Given the description of an element on the screen output the (x, y) to click on. 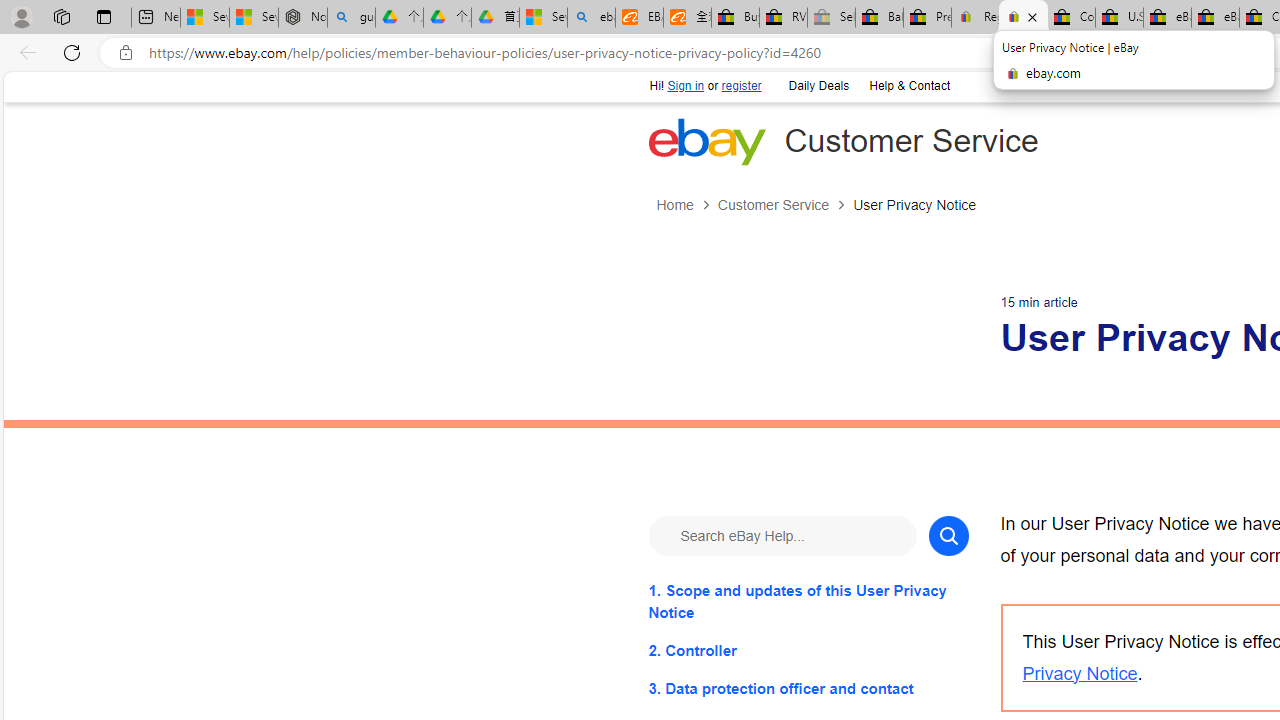
1. Scope and updates of this User Privacy Notice (807, 601)
1. Scope and updates of this User Privacy Notice (807, 601)
eBay Inc. Reports Third Quarter 2023 Results (1215, 17)
User Privacy Notice | eBay (1023, 17)
register (740, 85)
Daily Deals (818, 86)
2. Controller (807, 650)
